Given the description of an element on the screen output the (x, y) to click on. 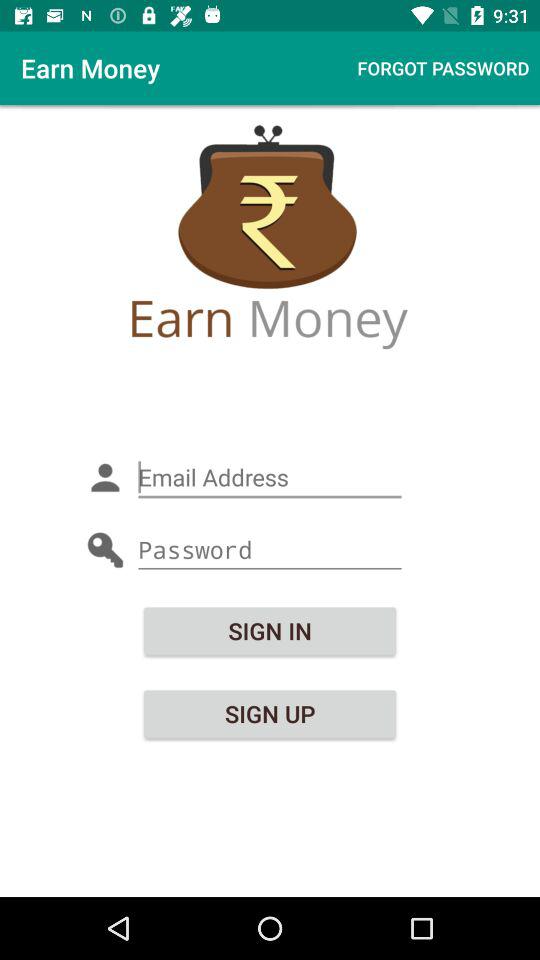
enter email (269, 477)
